Given the description of an element on the screen output the (x, y) to click on. 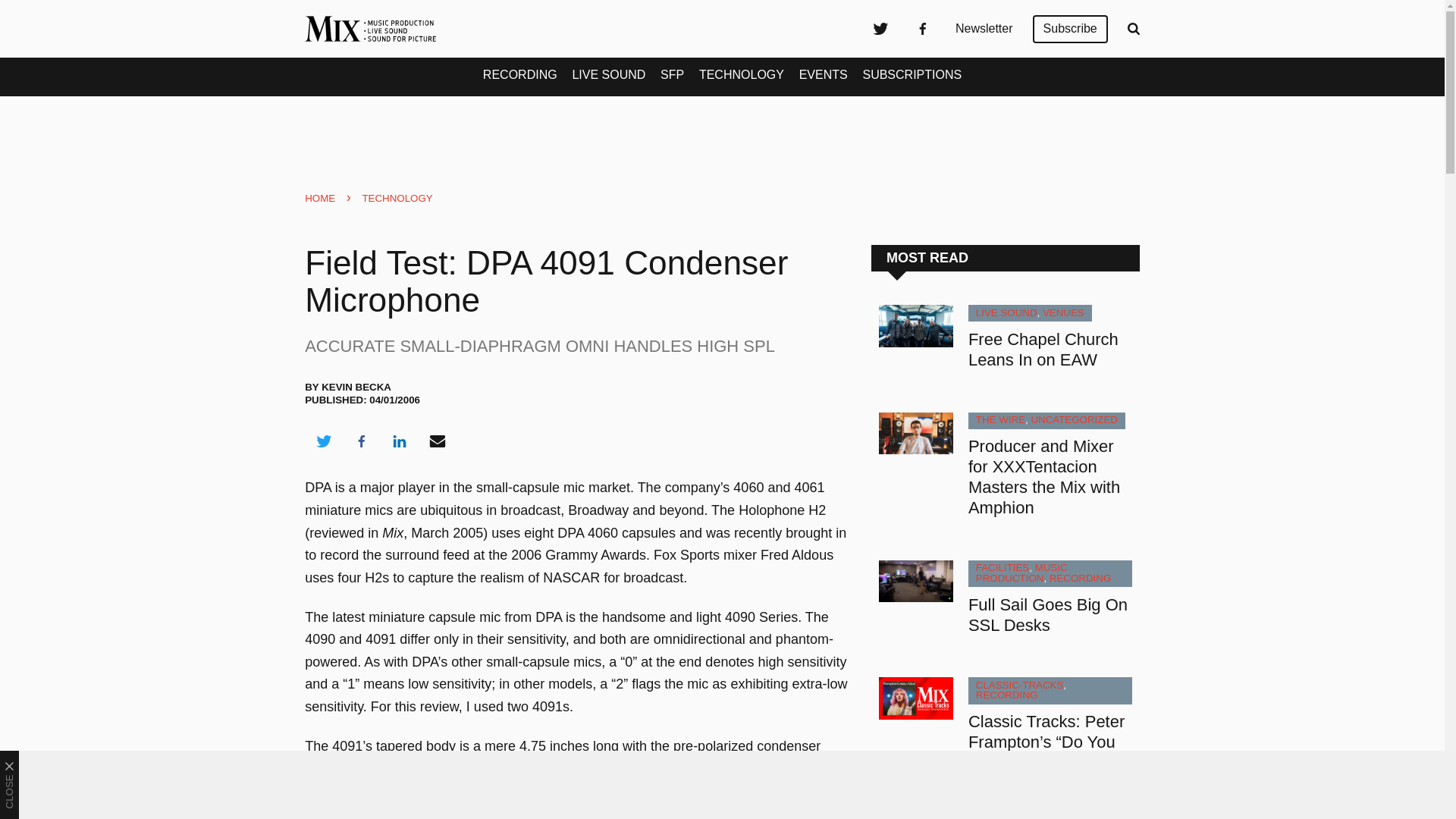
Share on Facebook (361, 441)
Share on LinkedIn (399, 441)
Share on Twitter (323, 441)
Share via Email (438, 441)
